Given the description of an element on the screen output the (x, y) to click on. 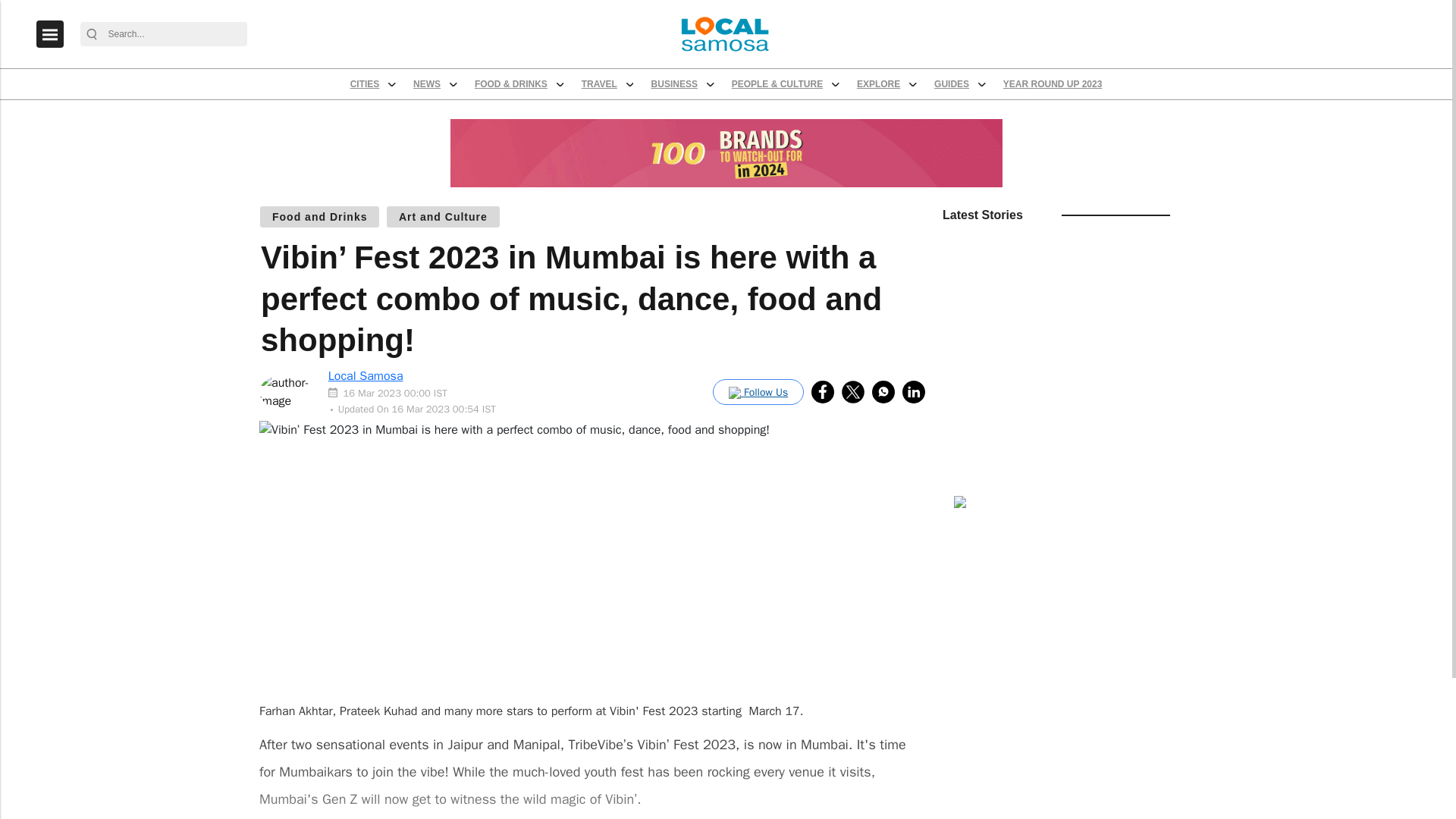
CITIES (455, 105)
TRAVEL (748, 105)
NEWS (533, 105)
